Given the description of an element on the screen output the (x, y) to click on. 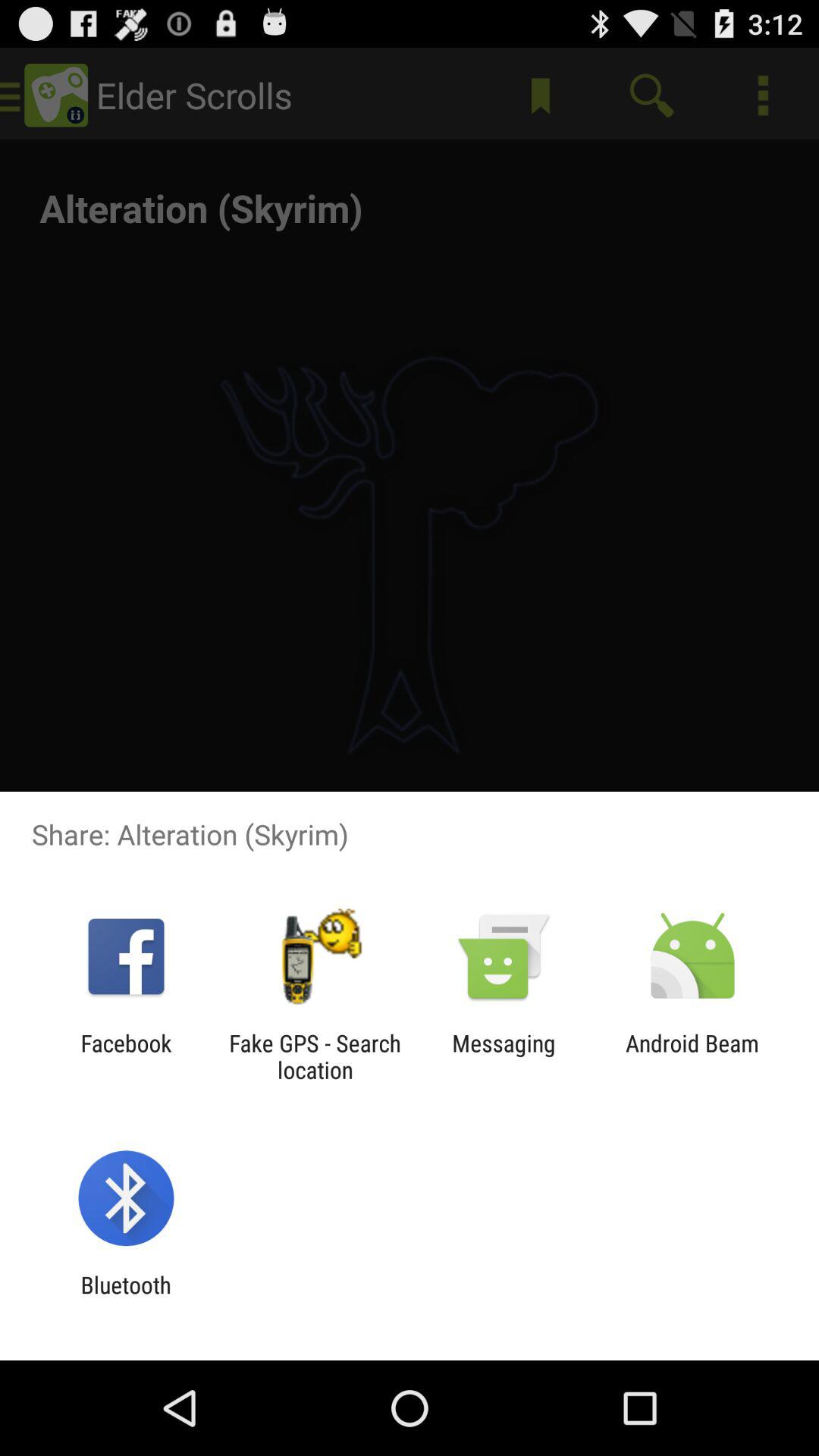
choose the app to the right of the messaging (692, 1056)
